Given the description of an element on the screen output the (x, y) to click on. 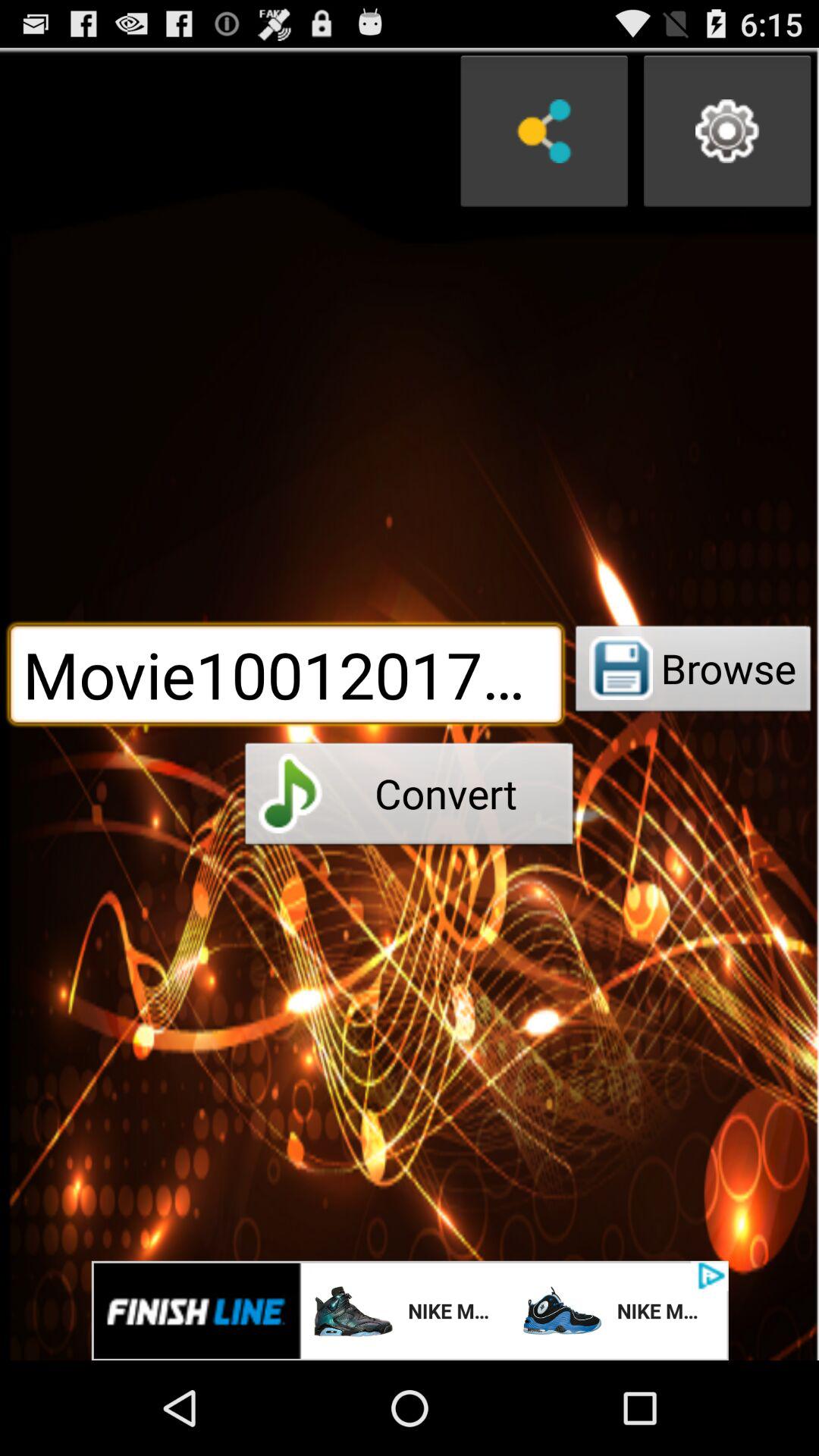
go to open the settings (727, 130)
